Given the description of an element on the screen output the (x, y) to click on. 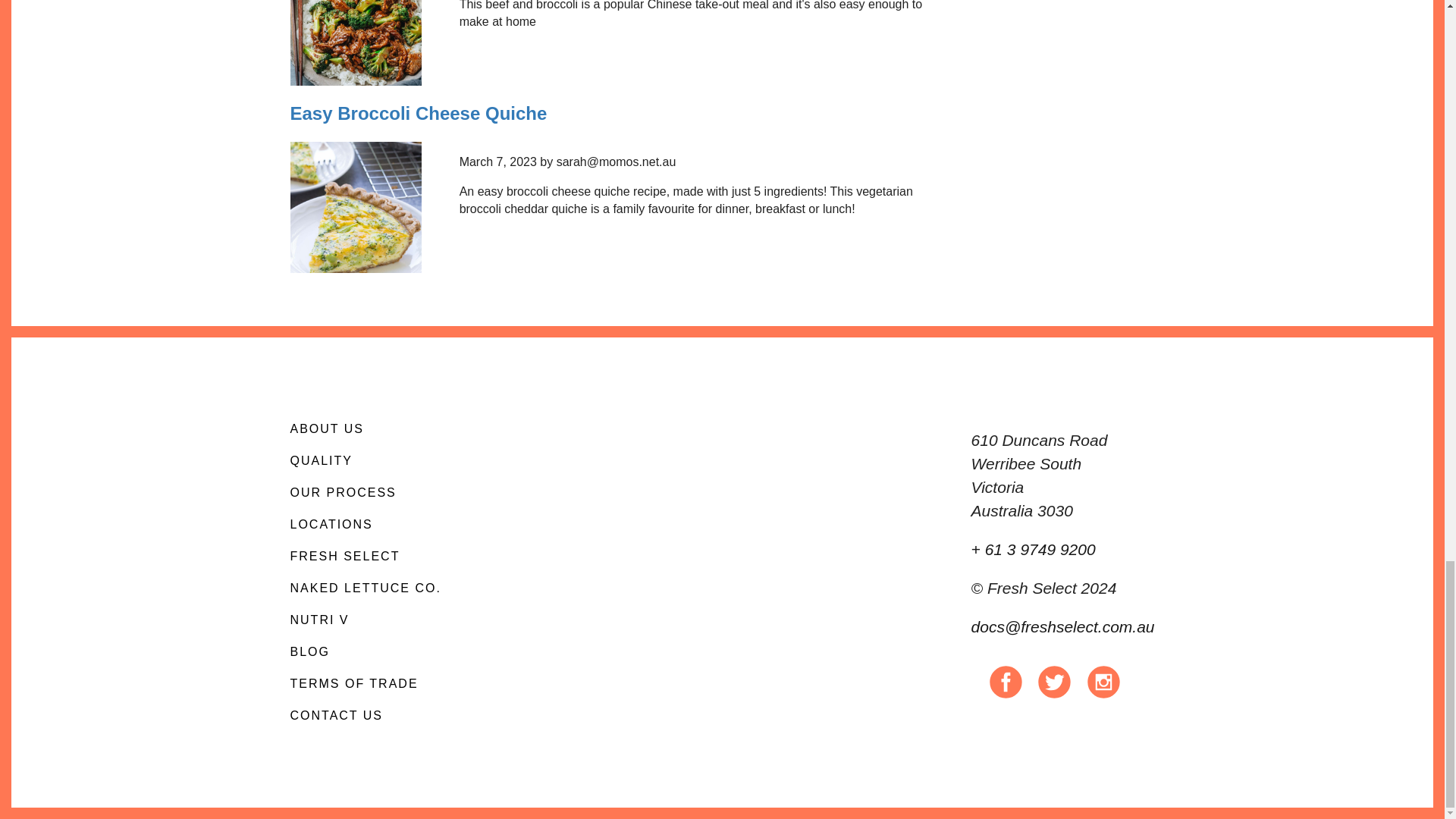
Easy Broccoli Cheese Quiche (418, 113)
